Given the description of an element on the screen output the (x, y) to click on. 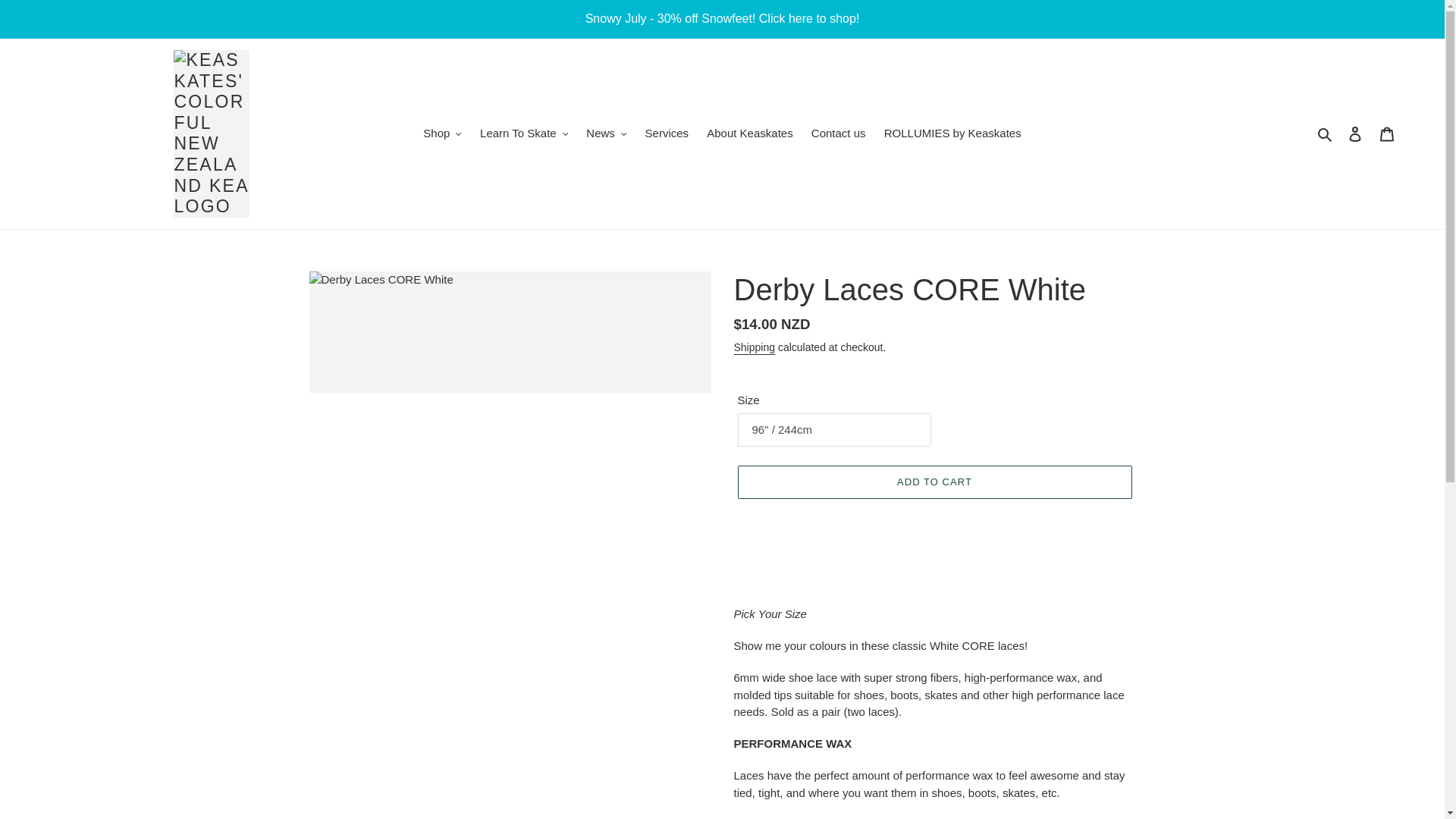
Shop (441, 133)
